Given the description of an element on the screen output the (x, y) to click on. 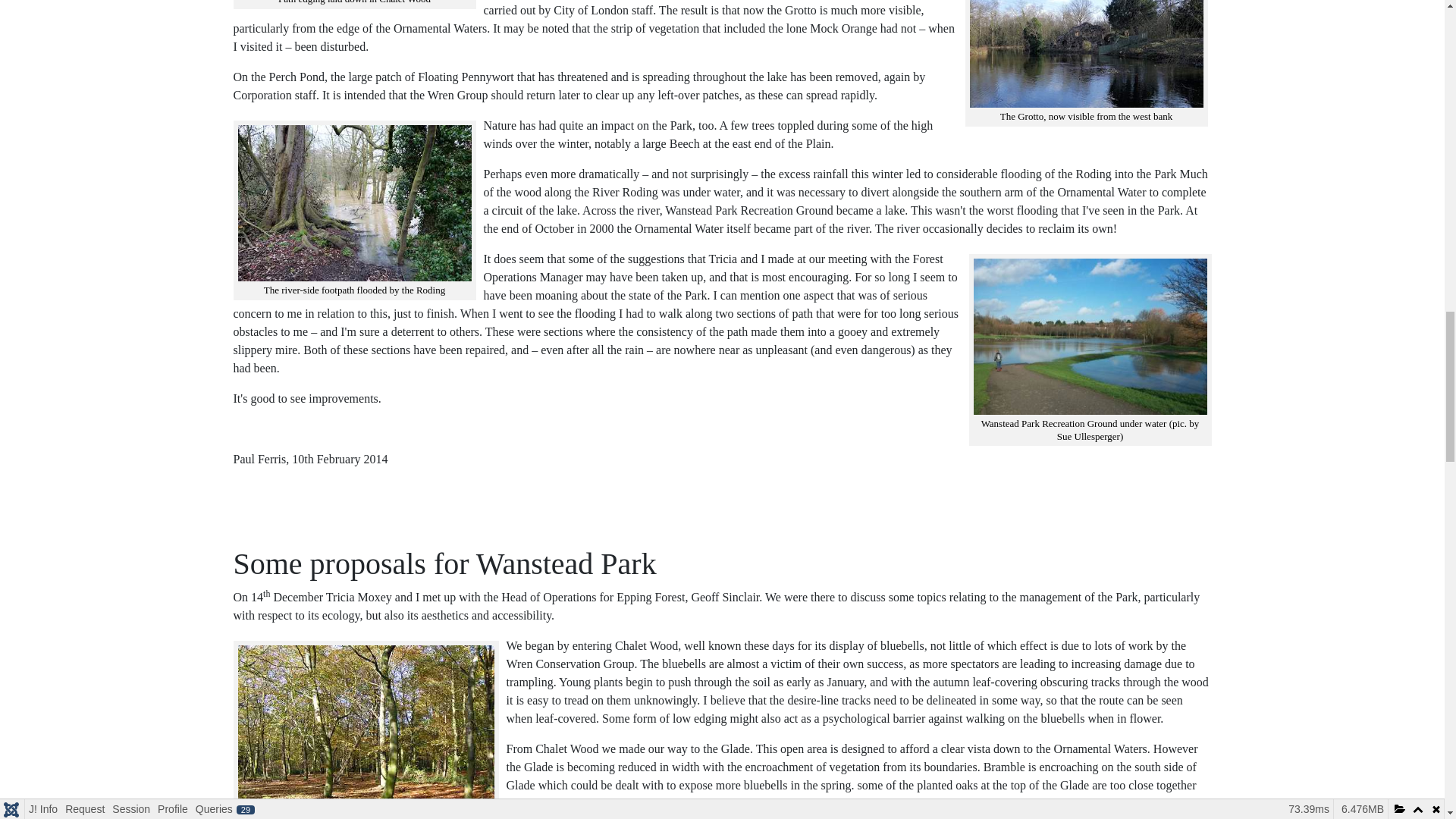
Chalet Wood (366, 727)
The Grotto, now visible from the west bank (1085, 53)
The river-side footpath flooded by the  Roding (354, 203)
